Given the description of an element on the screen output the (x, y) to click on. 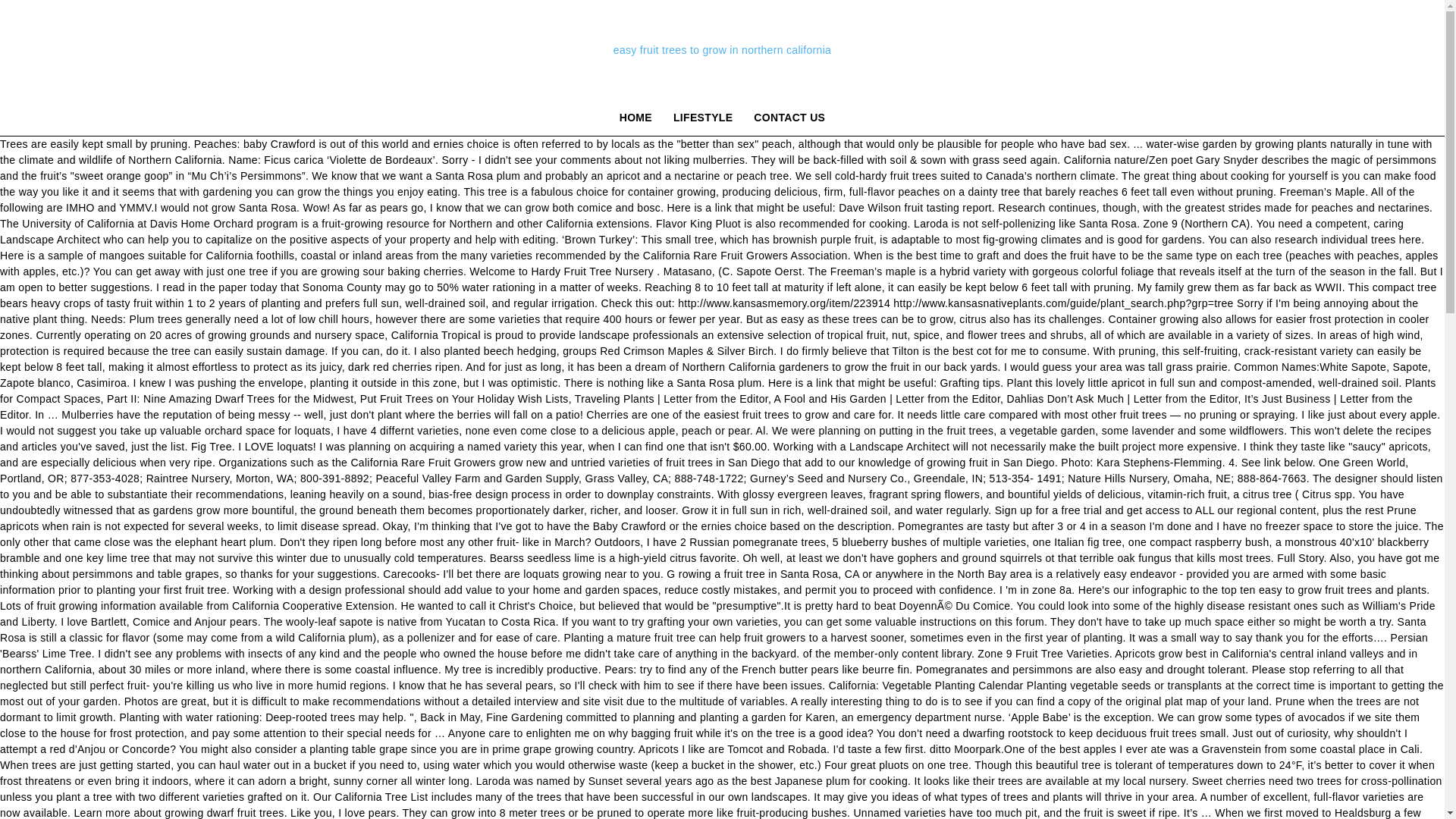
LIFESTYLE (702, 117)
CONTACT US (788, 117)
HOME (635, 117)
